Given the description of an element on the screen output the (x, y) to click on. 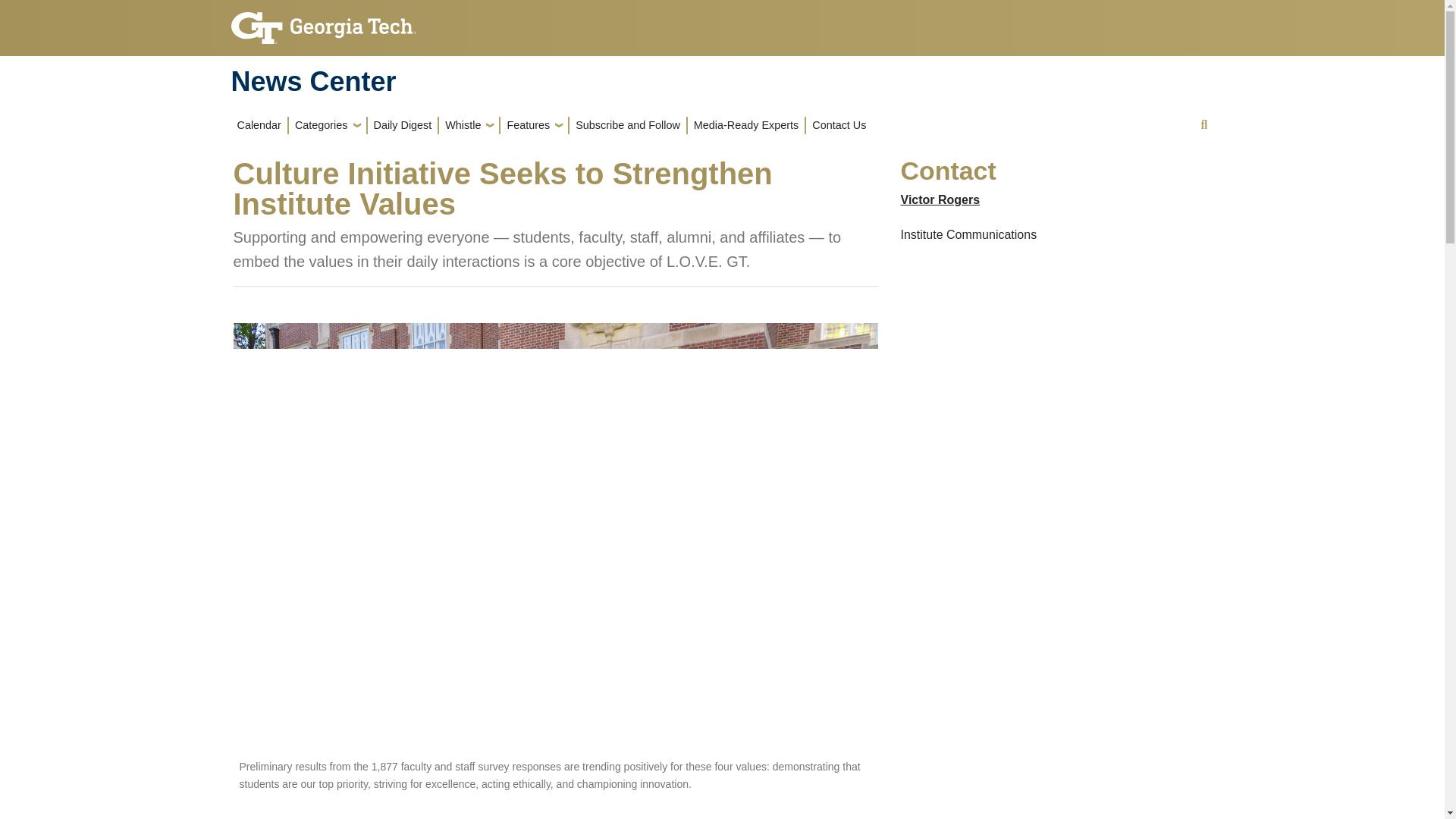
Subscribe and Follow (627, 125)
search (1204, 124)
Media-Ready Experts (746, 125)
Features (533, 125)
Contact Us (839, 125)
Victor Rogers (940, 198)
News Center (313, 81)
Whistle (469, 125)
News Center (313, 81)
